Given the description of an element on the screen output the (x, y) to click on. 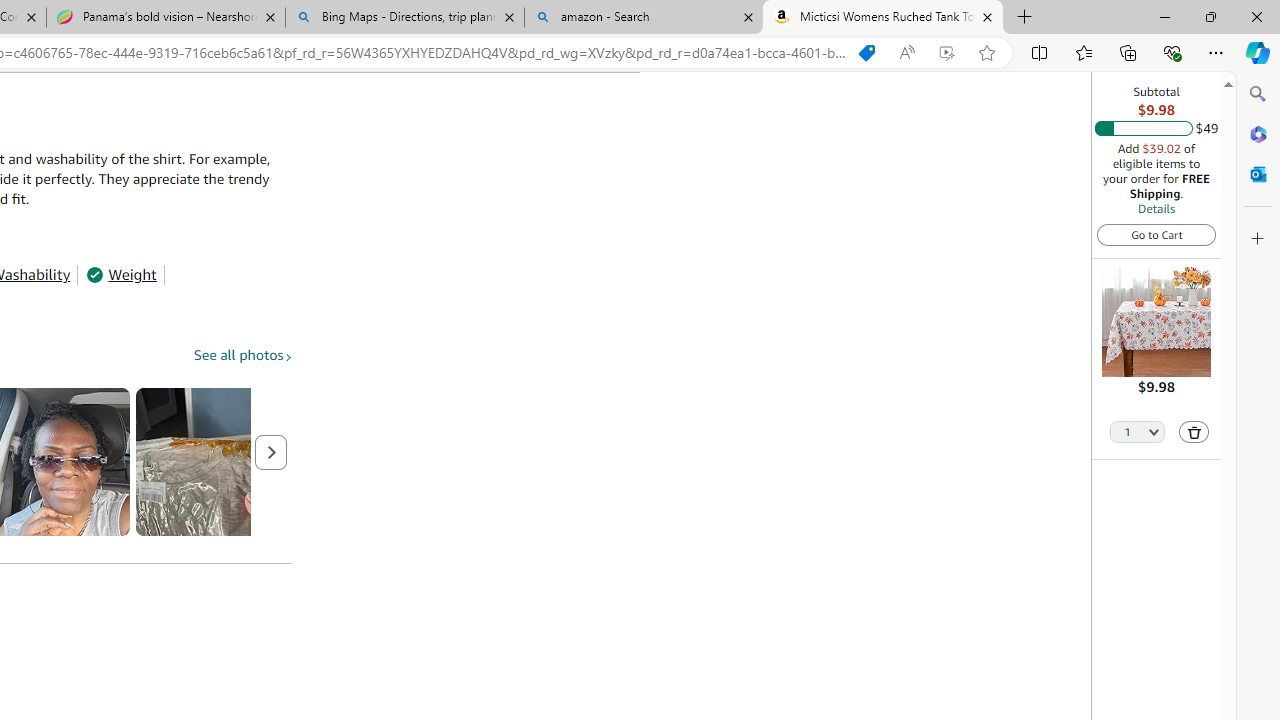
Weight (121, 274)
Enhance video (946, 53)
amazon - Search (643, 17)
Next page (271, 452)
